Given the description of an element on the screen output the (x, y) to click on. 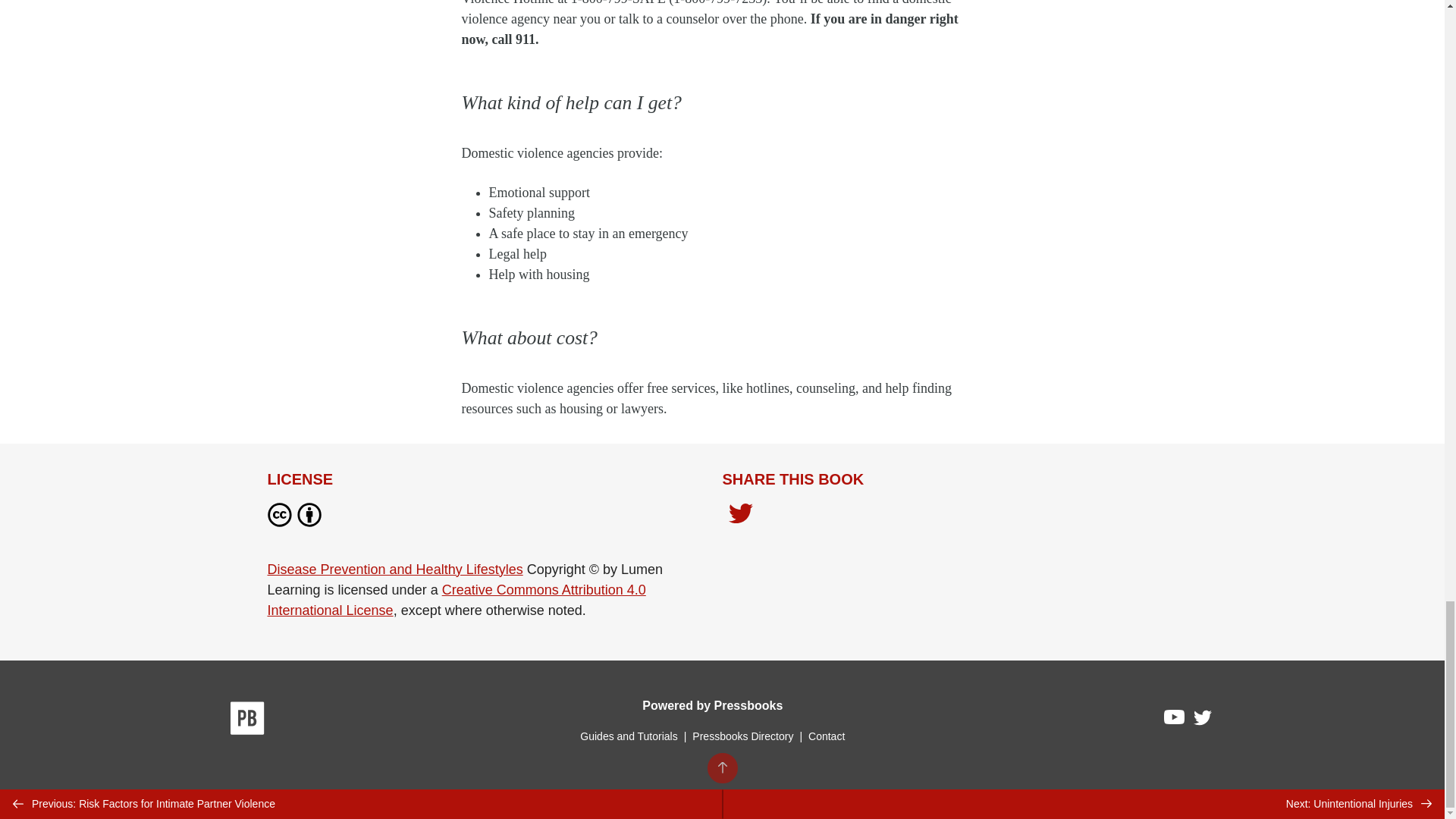
Pressbooks Directory (742, 735)
Contact (826, 735)
Share on Twitter (740, 516)
Share on Twitter (740, 514)
Pressbooks on YouTube (1174, 721)
Powered by Pressbooks (712, 705)
Disease Prevention and Healthy Lifestyles (394, 568)
Creative Commons Attribution 4.0 International License (455, 600)
Guides and Tutorials (627, 735)
